Given the description of an element on the screen output the (x, y) to click on. 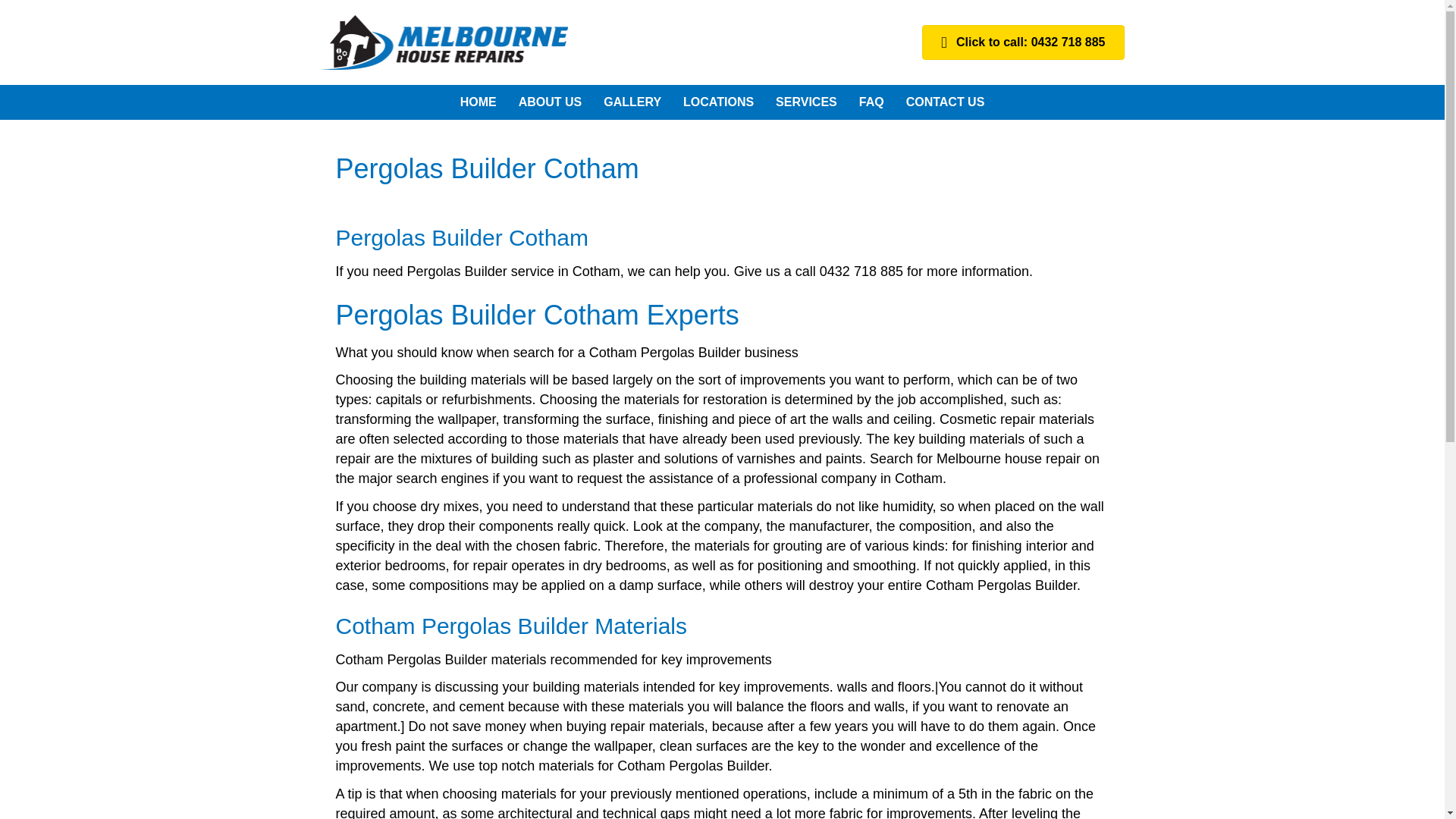
Click to call: 0432 718 885 (1022, 42)
Melbourne-House-Repairs (443, 42)
HOME (477, 102)
ABOUT US (550, 102)
LOCATIONS (718, 102)
FAQ (871, 102)
CONTACT US (945, 102)
SERVICES (806, 102)
GALLERY (631, 102)
